Given the description of an element on the screen output the (x, y) to click on. 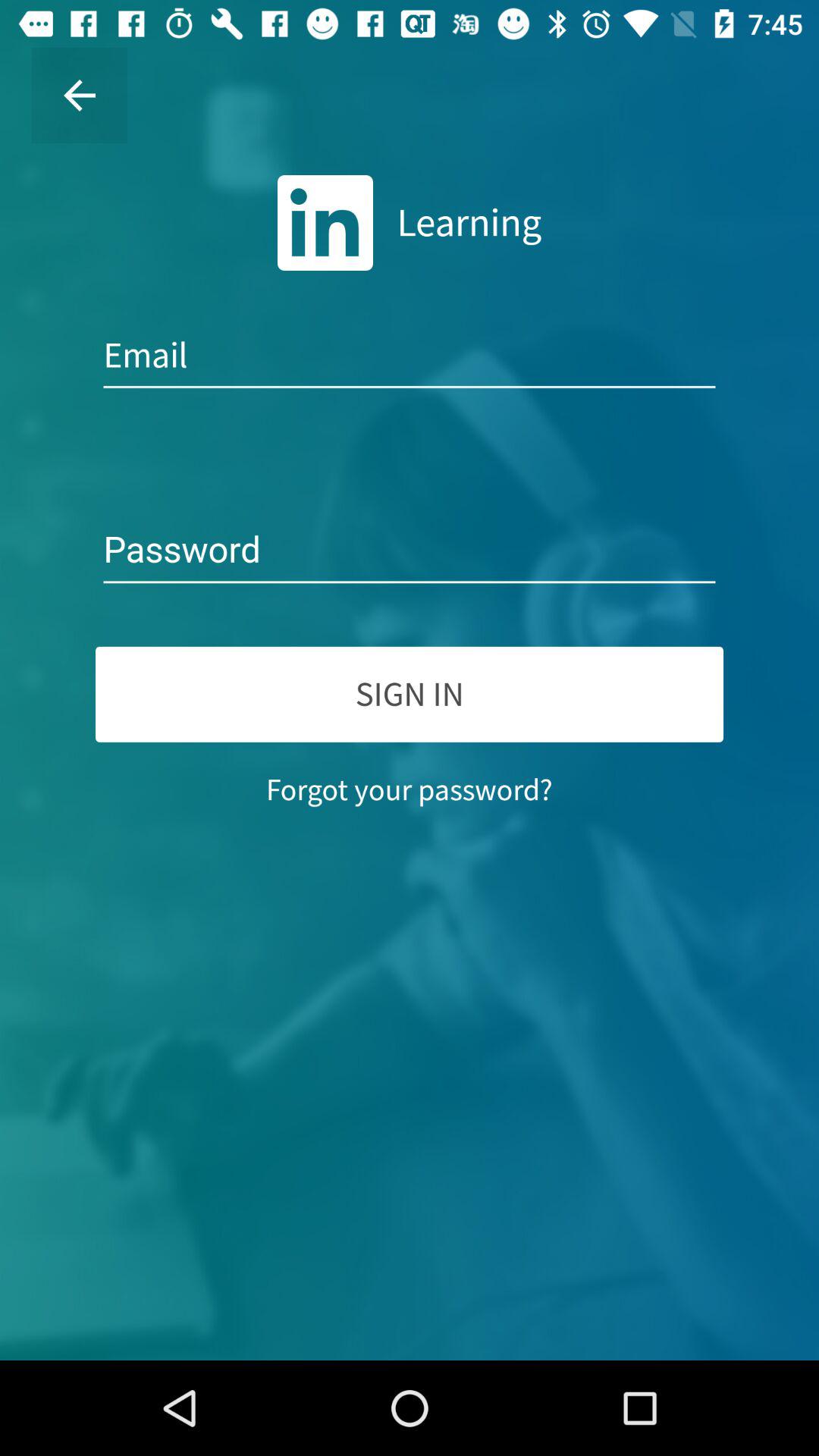
type your password (409, 550)
